Given the description of an element on the screen output the (x, y) to click on. 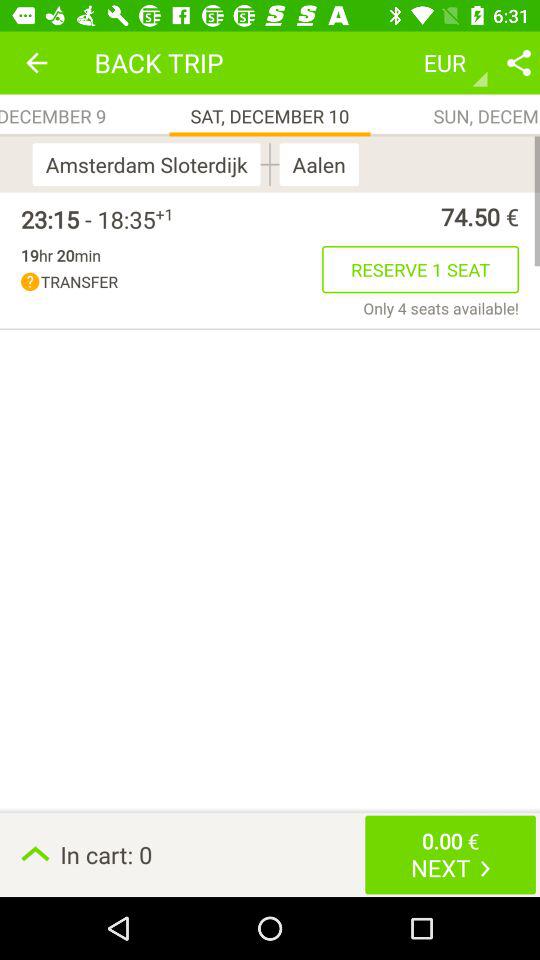
select item below the reserve 1 seat icon (441, 308)
